Given the description of an element on the screen output the (x, y) to click on. 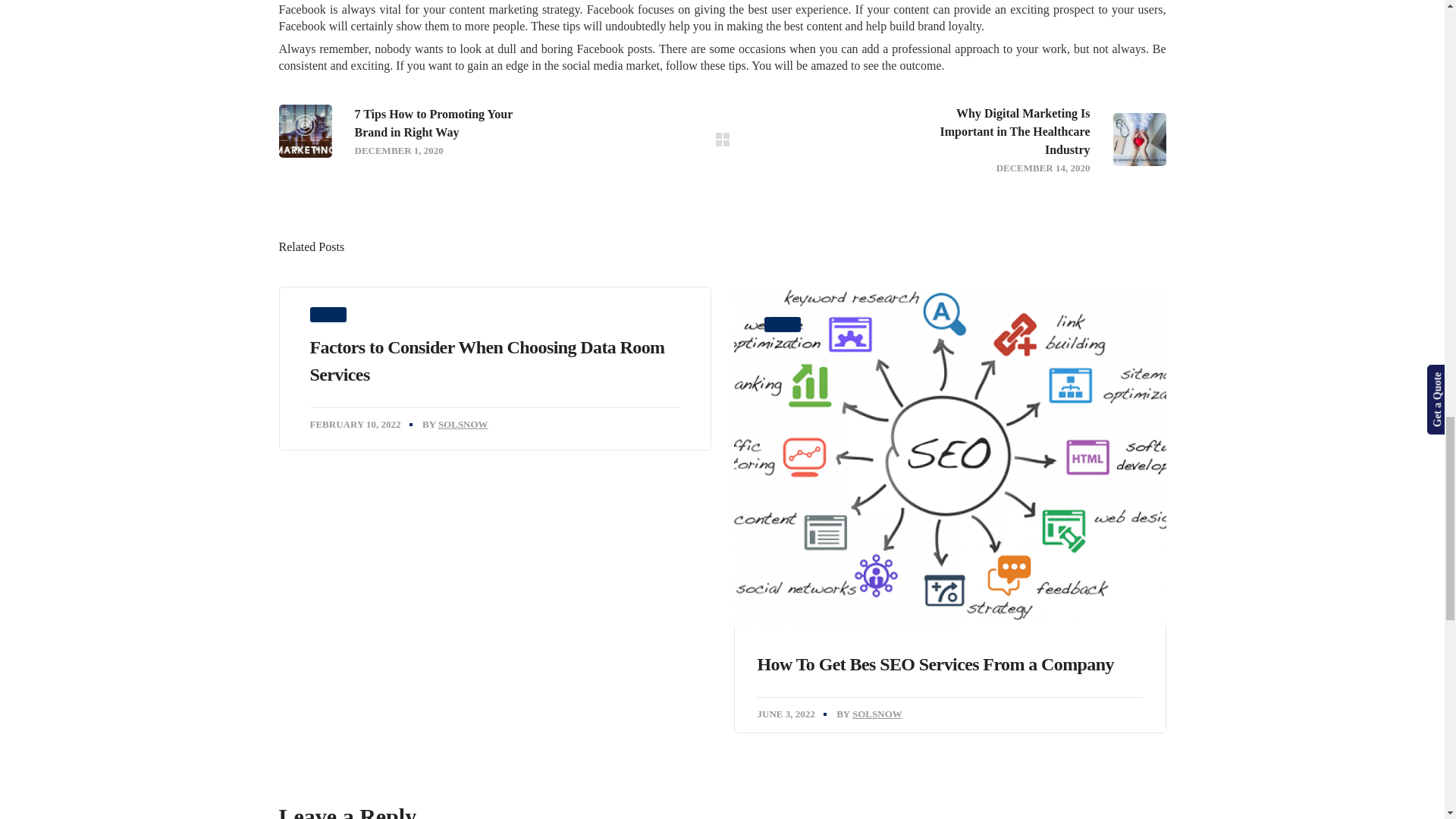
7 Tips How to Promoting Your Brand in Right Way (475, 131)
